Given the description of an element on the screen output the (x, y) to click on. 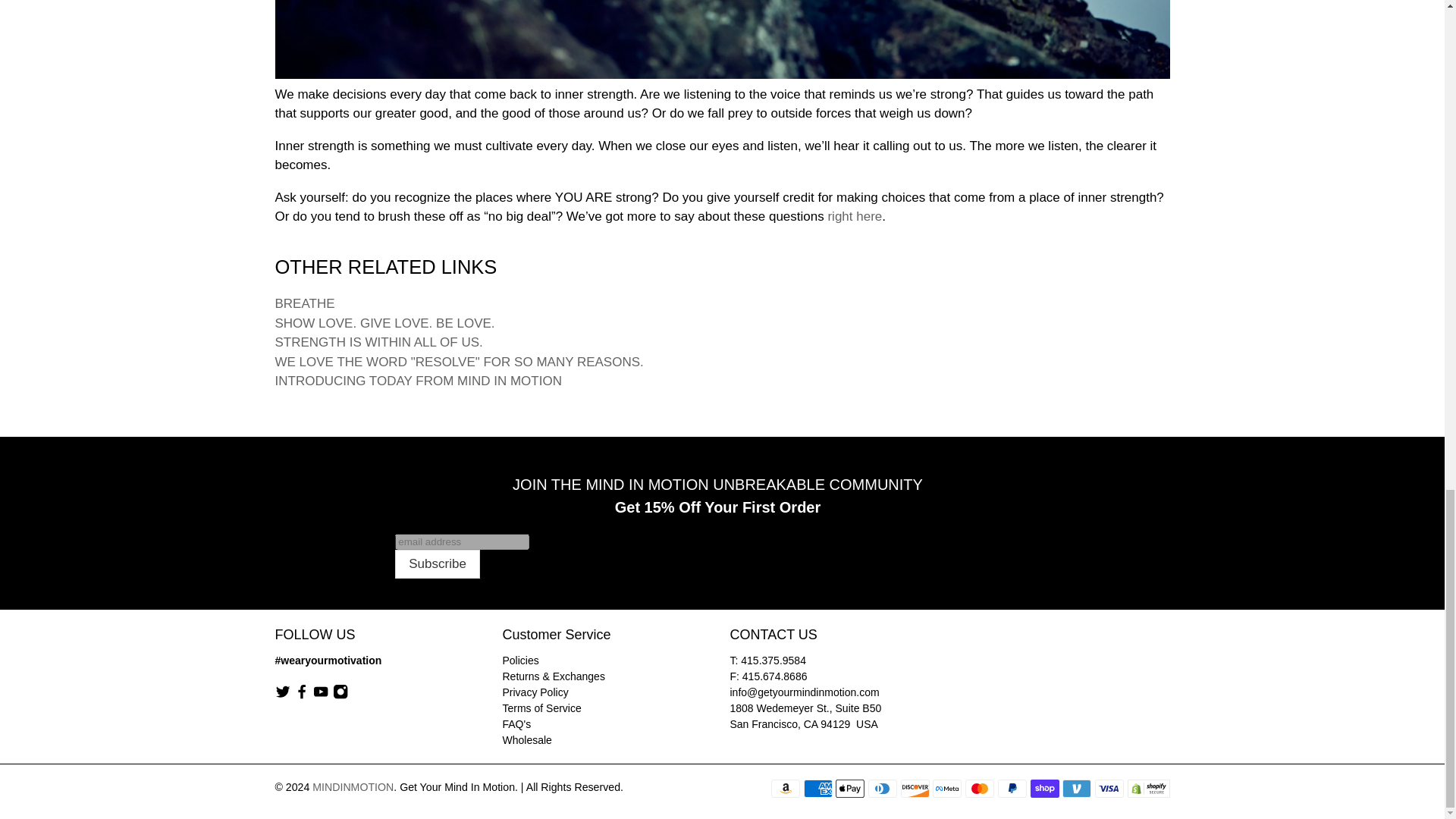
Diners Club (881, 788)
Mastercard (979, 788)
Discover (915, 788)
Subscribe (437, 563)
American Express (817, 788)
Venmo (1076, 788)
Meta Pay (946, 788)
Amazon (785, 788)
This online store is secured by Shopify (1148, 793)
MINDINMOTION on Instagram (340, 695)
Apple Pay (849, 788)
Visa (1109, 788)
MINDINMOTION on Twitter (282, 695)
PayPal (1011, 788)
MINDINMOTION on YouTube (321, 695)
